Given the description of an element on the screen output the (x, y) to click on. 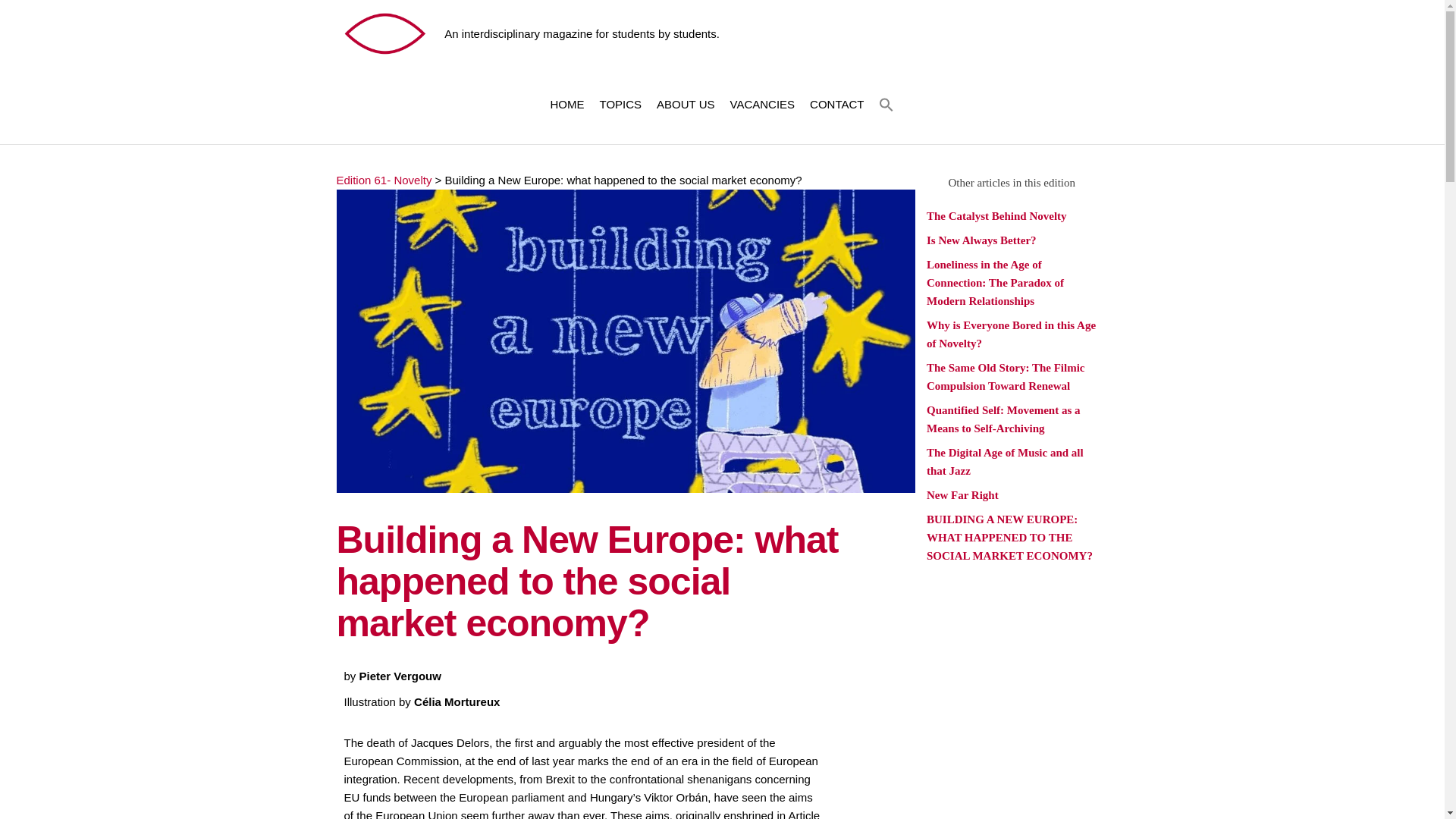
Contact (836, 104)
Vacancies (762, 104)
ABOUT US (685, 104)
Pieter Vergouw (400, 675)
CONTACT (836, 104)
Topics (620, 104)
About Us (685, 104)
Go to the Edition 61- Novelty category archives. (384, 179)
TOPICS (620, 104)
Inter (467, 37)
VACANCIES (762, 104)
Edition 61- Novelty (384, 179)
